Given the description of an element on the screen output the (x, y) to click on. 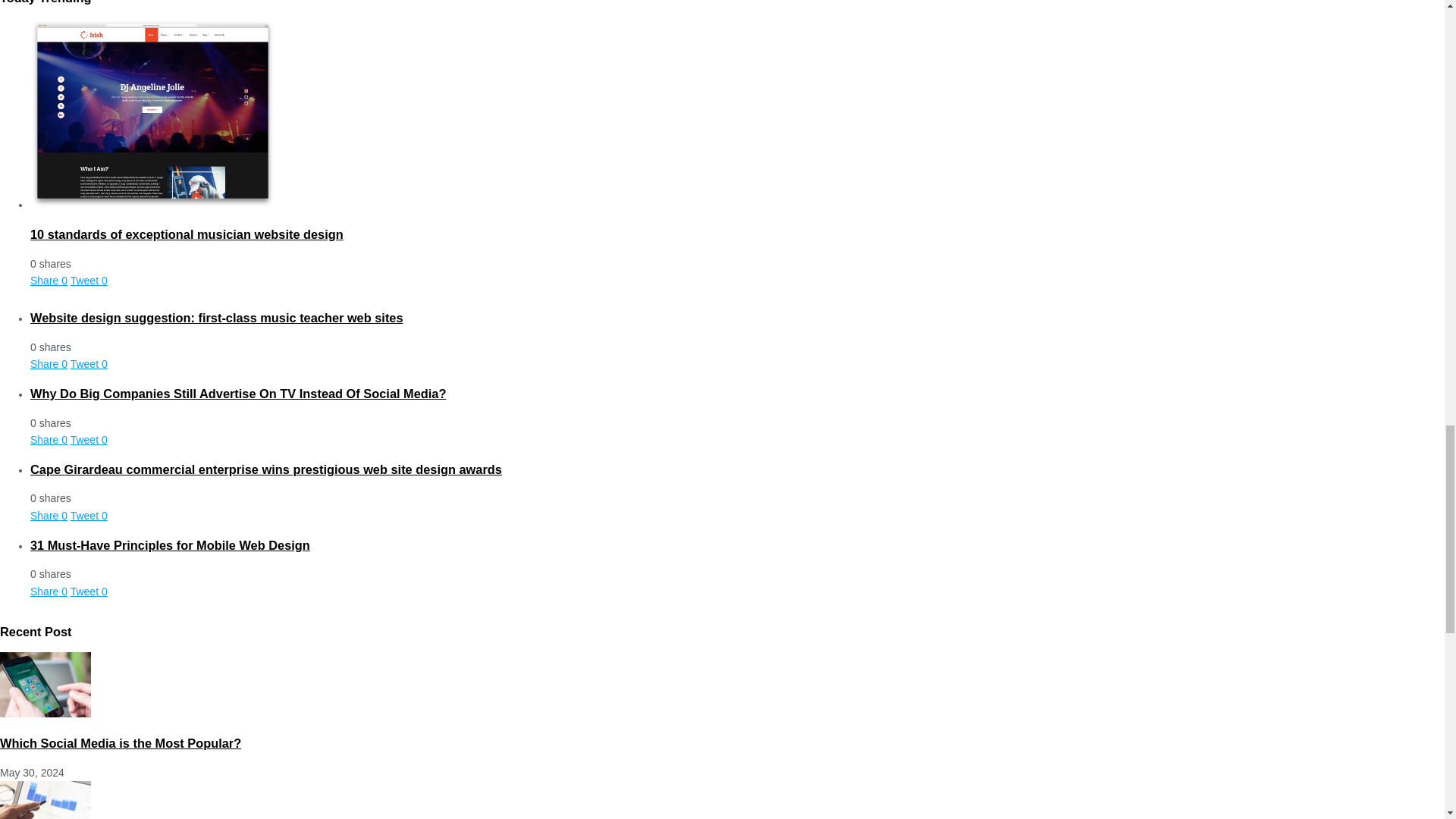
10 standards of exceptional musician website design 3 (152, 113)
Which Social Media is the Most Popular? 4 (45, 684)
